Given the description of an element on the screen output the (x, y) to click on. 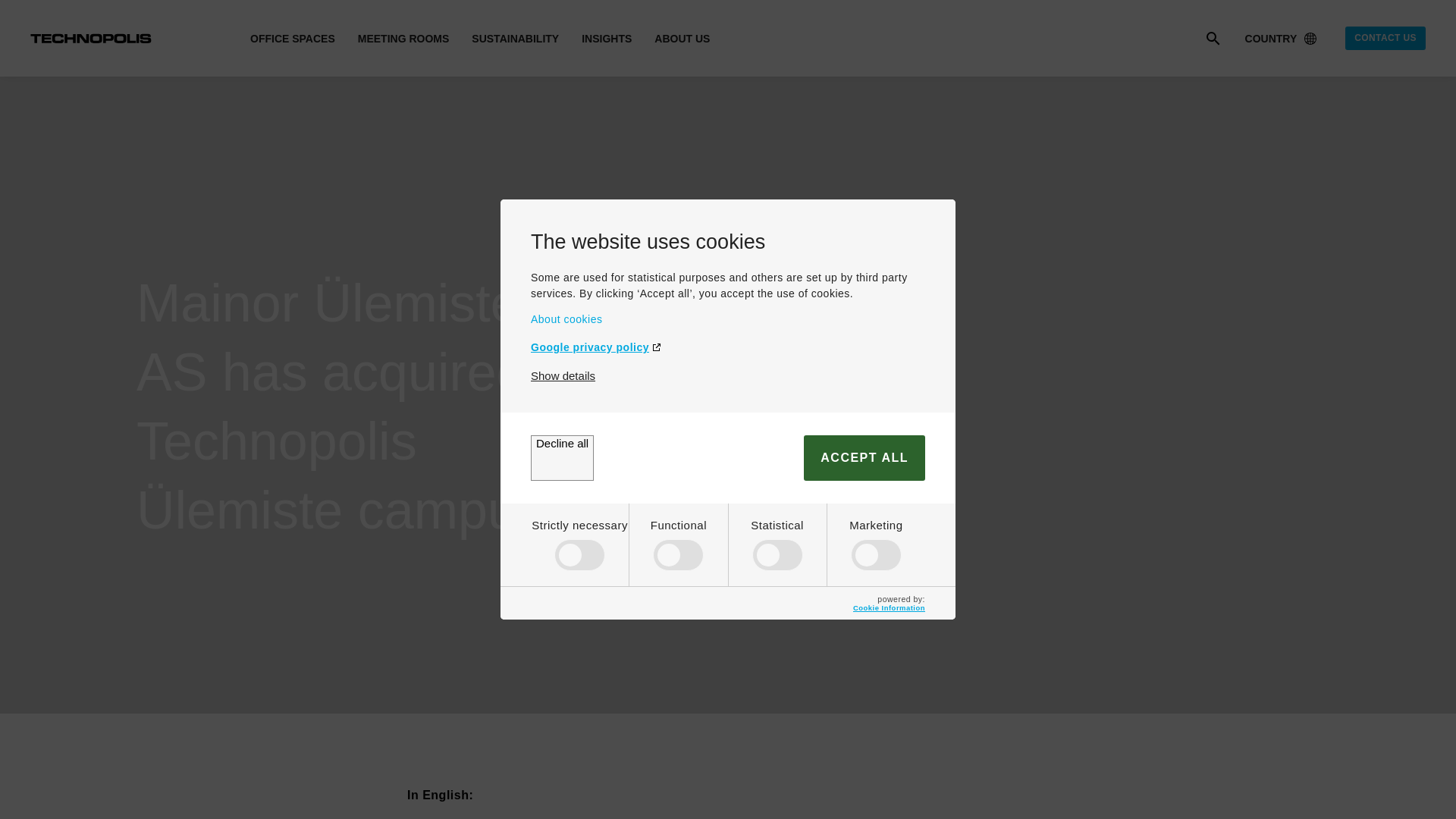
Google privacy policy (727, 346)
Show details (563, 375)
About cookies (727, 318)
